Given the description of an element on the screen output the (x, y) to click on. 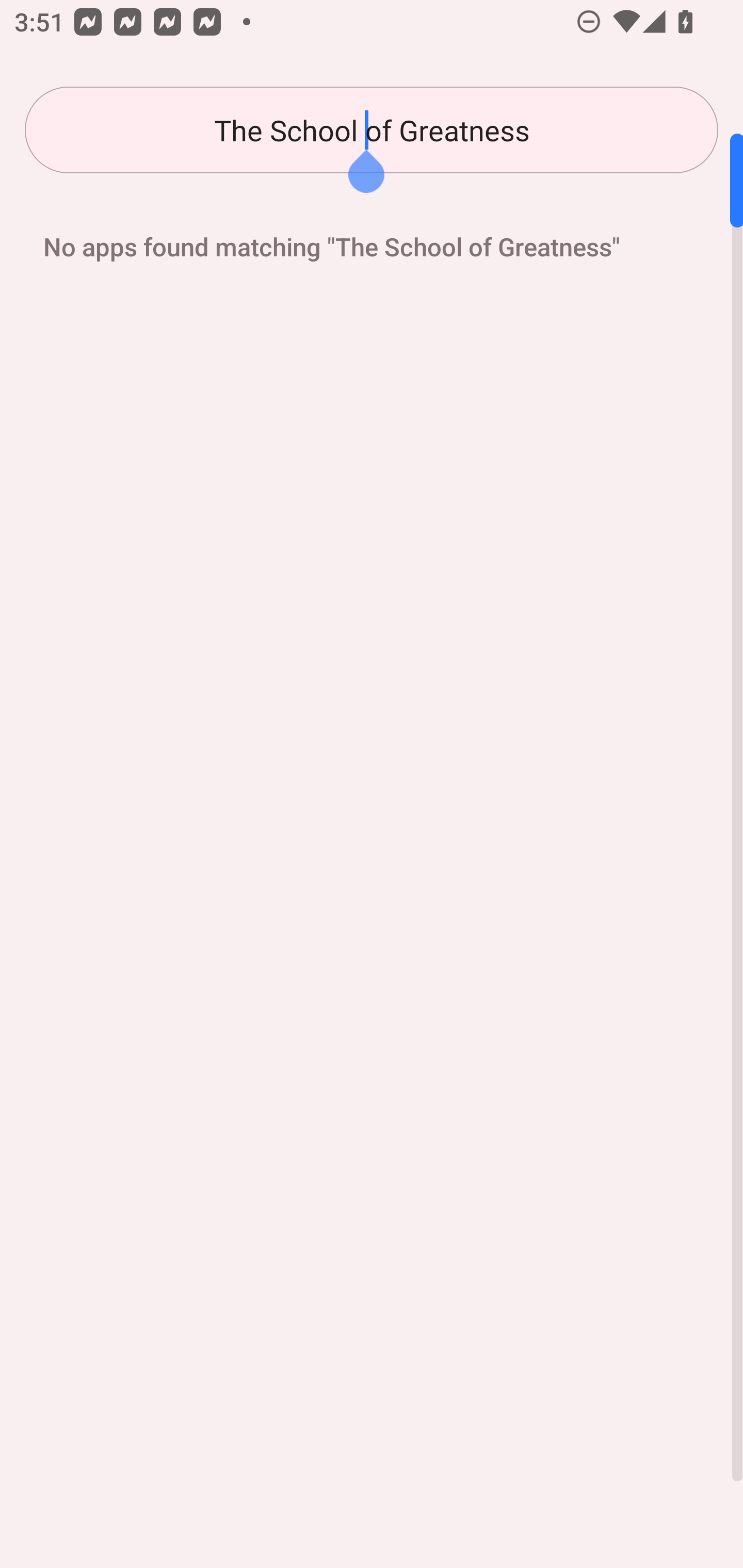
The School of Greatness (371, 130)
